Given the description of an element on the screen output the (x, y) to click on. 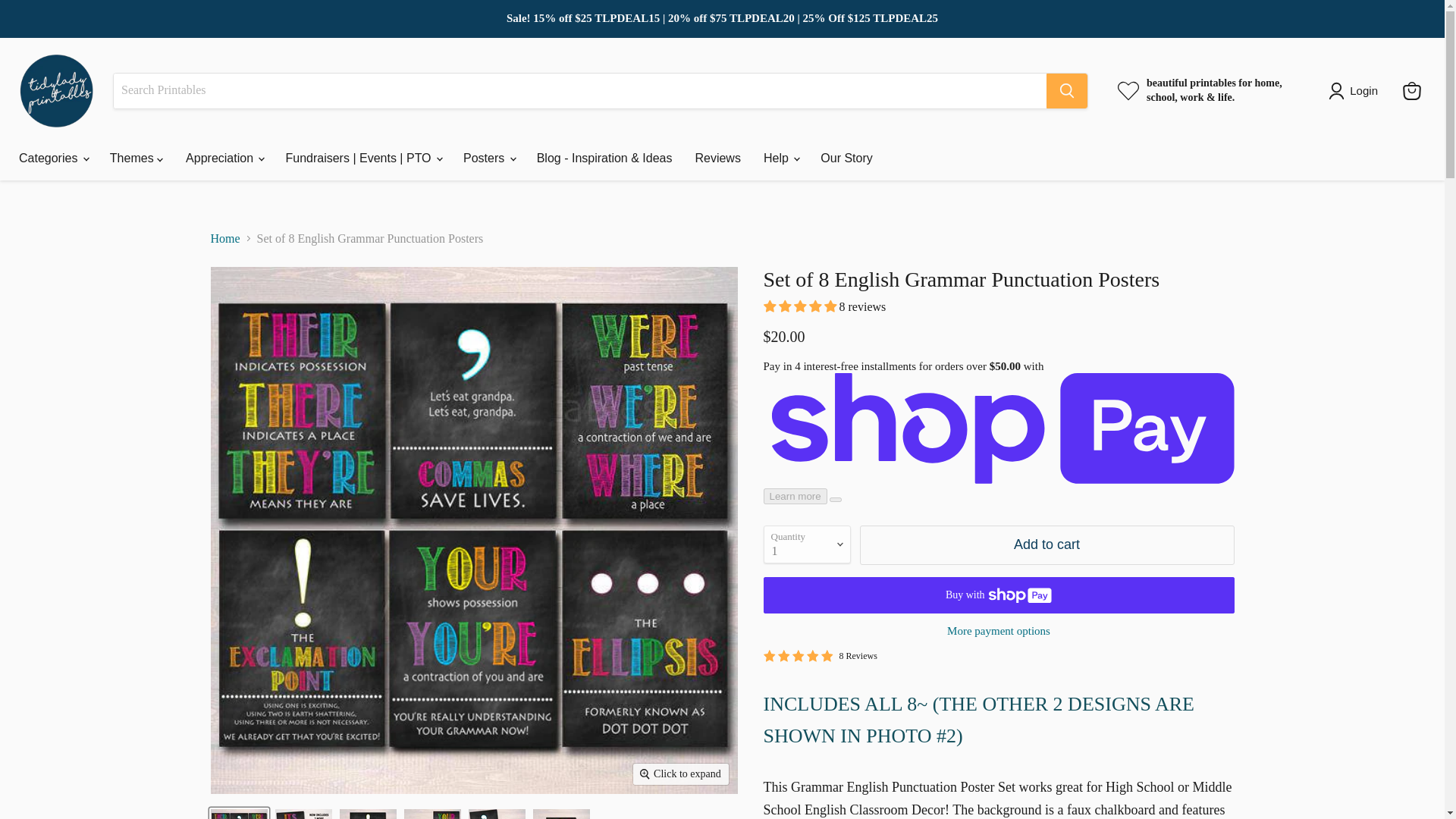
Login (1355, 90)
View cart (1411, 90)
